Given the description of an element on the screen output the (x, y) to click on. 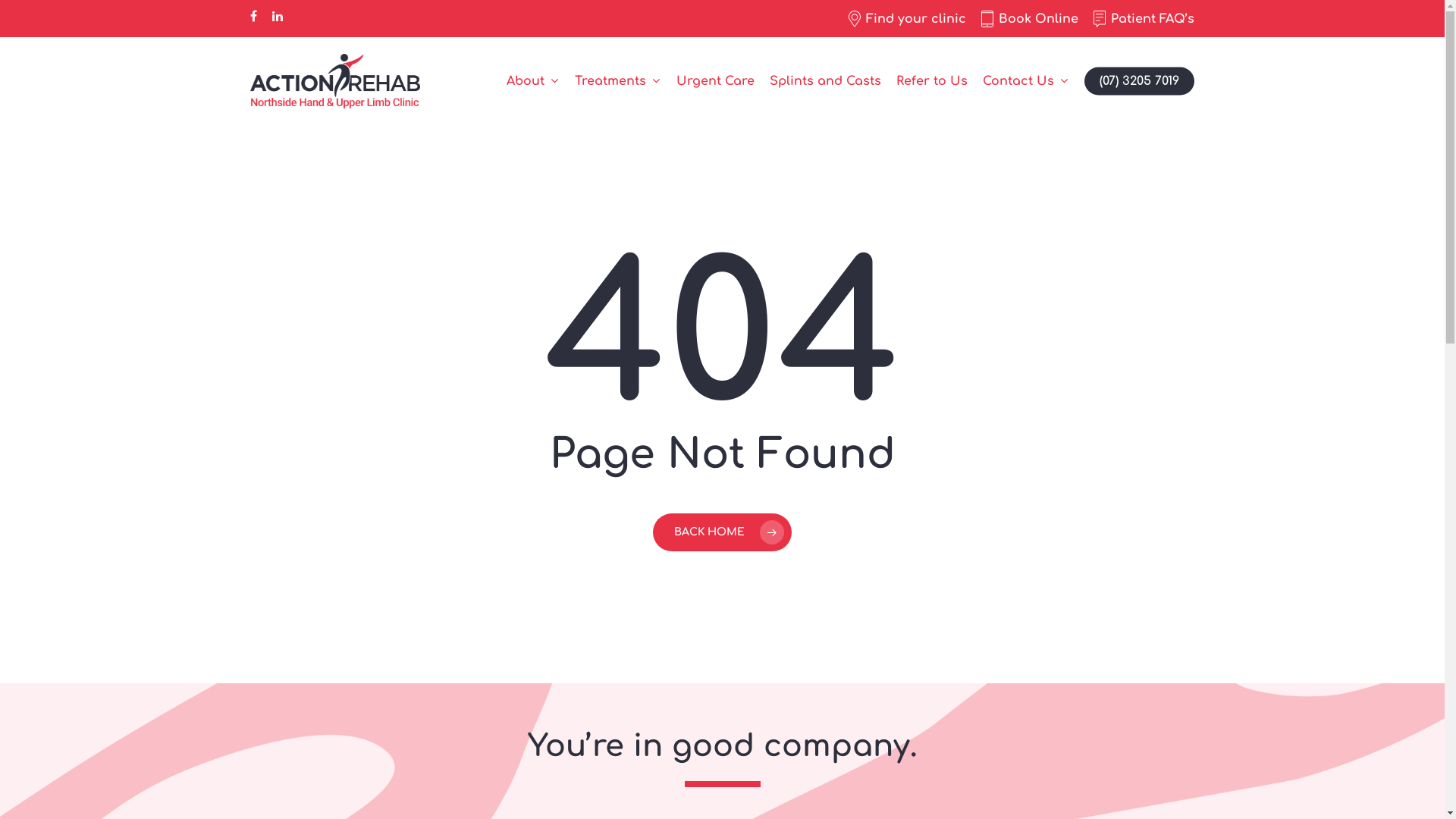
BACK HOME Element type: text (721, 531)
Book Online Element type: text (1029, 18)
About Element type: text (532, 80)
Treatments Element type: text (617, 80)
(07) 3205 7019 Element type: text (1139, 80)
Refer to Us Element type: text (931, 80)
Splints and Casts Element type: text (825, 80)
Urgent Care Element type: text (715, 80)
Find your clinic Element type: text (907, 18)
Contact Us Element type: text (1025, 80)
